Given the description of an element on the screen output the (x, y) to click on. 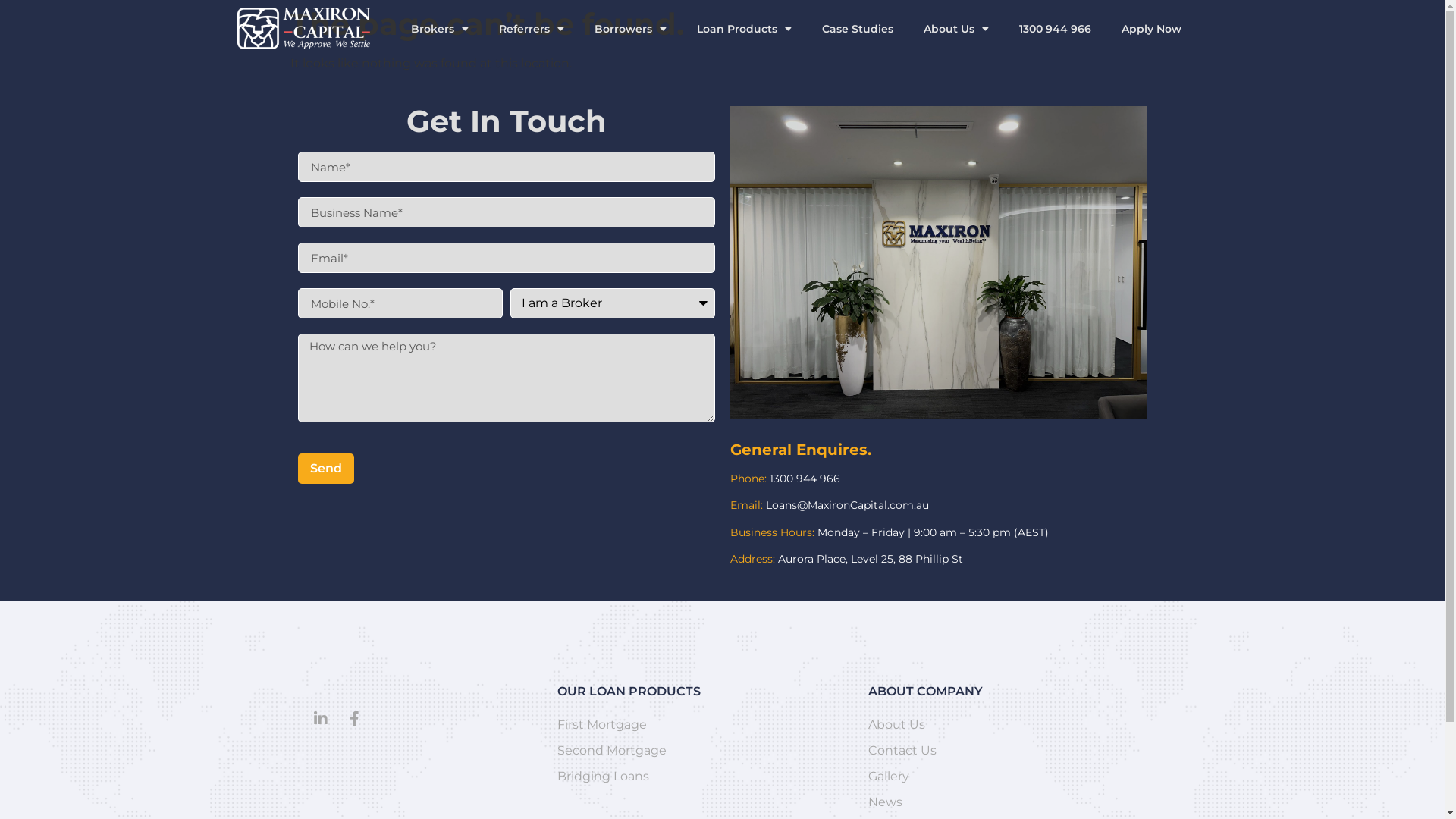
Apply Now Element type: text (1151, 28)
1300 944 966  Element type: text (805, 478)
Bridging Loans Element type: text (705, 776)
First Mortgage Element type: text (705, 724)
About Us Element type: text (956, 28)
Loan Products Element type: text (743, 28)
Second Mortgage Element type: text (705, 750)
Gallery Element type: text (1001, 776)
Contact Us Element type: text (1001, 750)
Referrers Element type: text (531, 28)
Send Element type: text (325, 468)
News Element type: text (1001, 802)
Brokers Element type: text (439, 28)
Case Studies Element type: text (857, 28)
 Loans@MaxironCapital.com.au Element type: text (845, 504)
1300 944 966 Element type: text (1055, 28)
About Us Element type: text (1001, 724)
Borrowers Element type: text (630, 28)
